Given the description of an element on the screen output the (x, y) to click on. 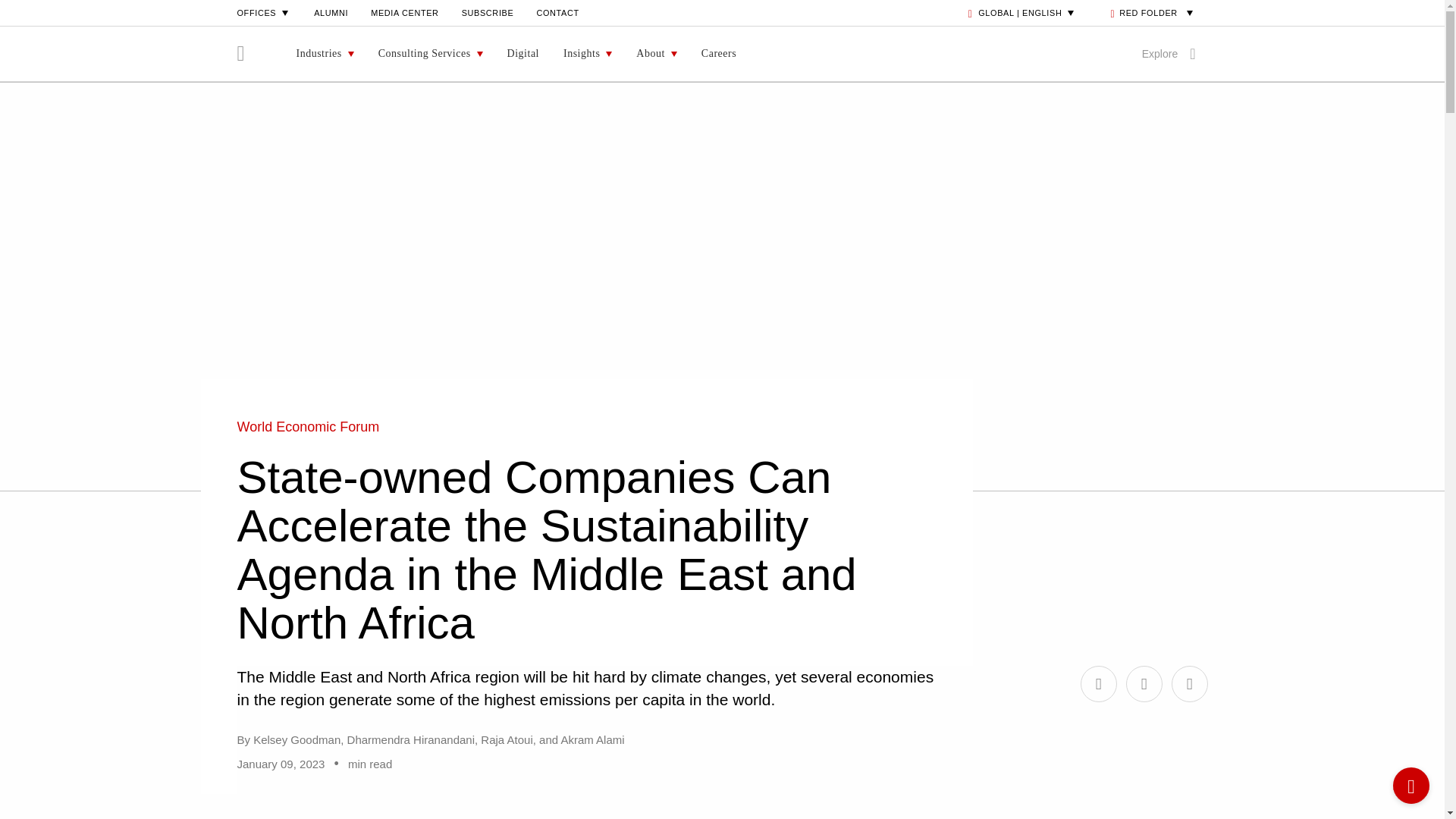
OFFICES (263, 12)
